Given the description of an element on the screen output the (x, y) to click on. 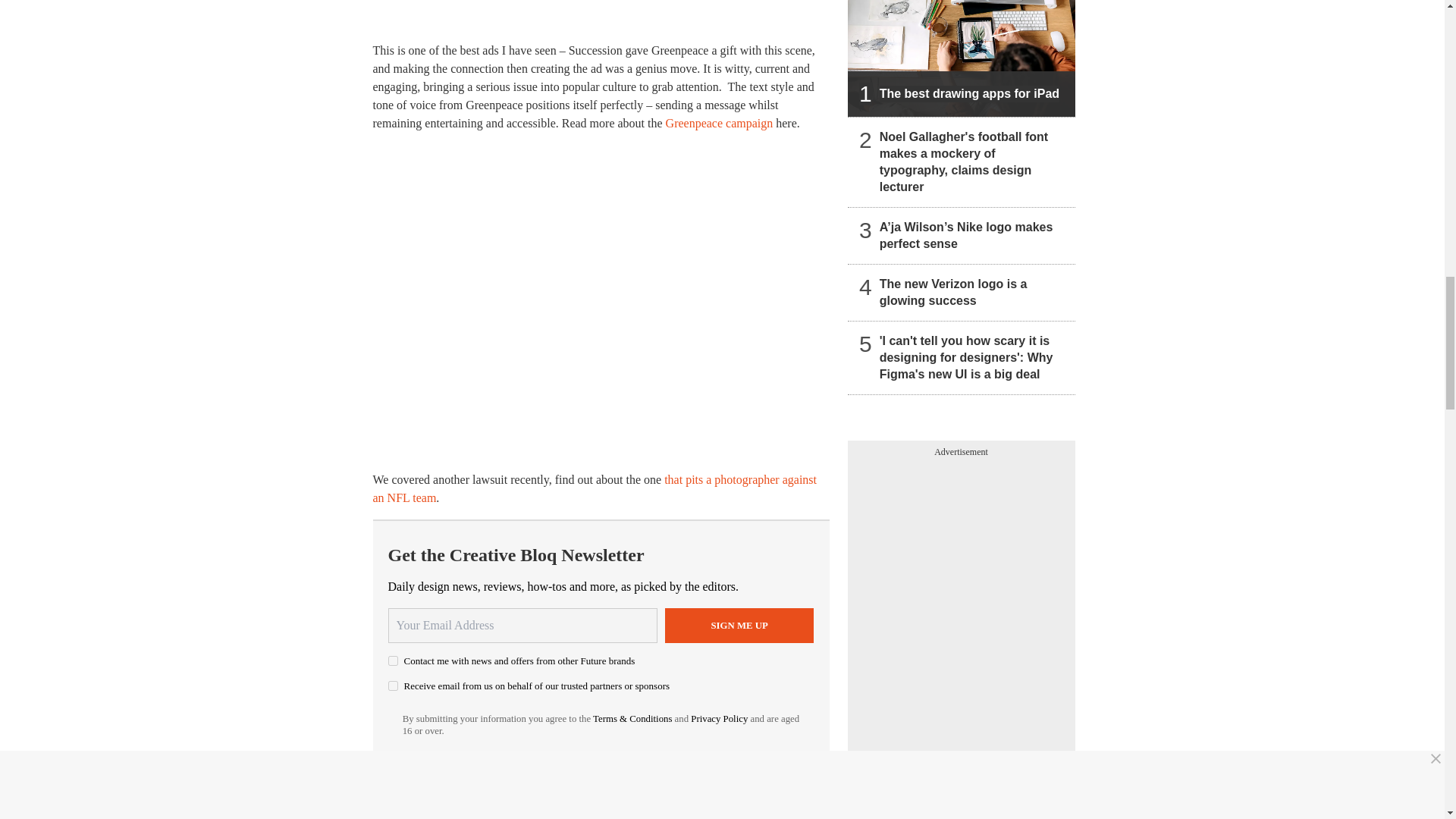
Sign me up (739, 625)
on (392, 685)
on (392, 660)
